Given the description of an element on the screen output the (x, y) to click on. 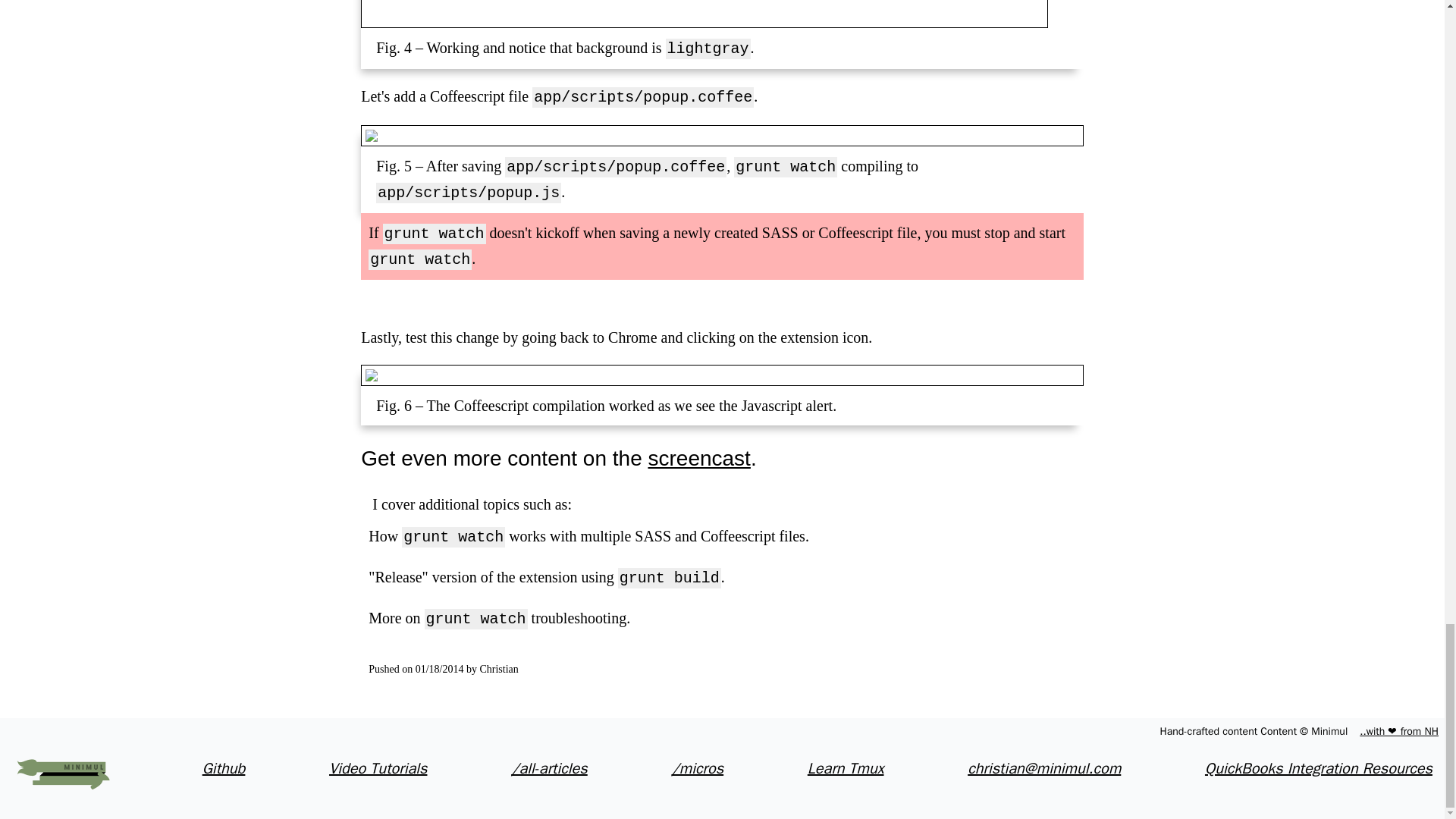
Github (224, 768)
Learn Tmux (845, 768)
Video Tutorials (377, 768)
Email (1044, 768)
All articles (549, 768)
QuickBooks Integration Resources (1318, 768)
See all of my screencasts (377, 768)
screencast (698, 458)
Micro articles (697, 768)
Learn Tmux (845, 768)
